Given the description of an element on the screen output the (x, y) to click on. 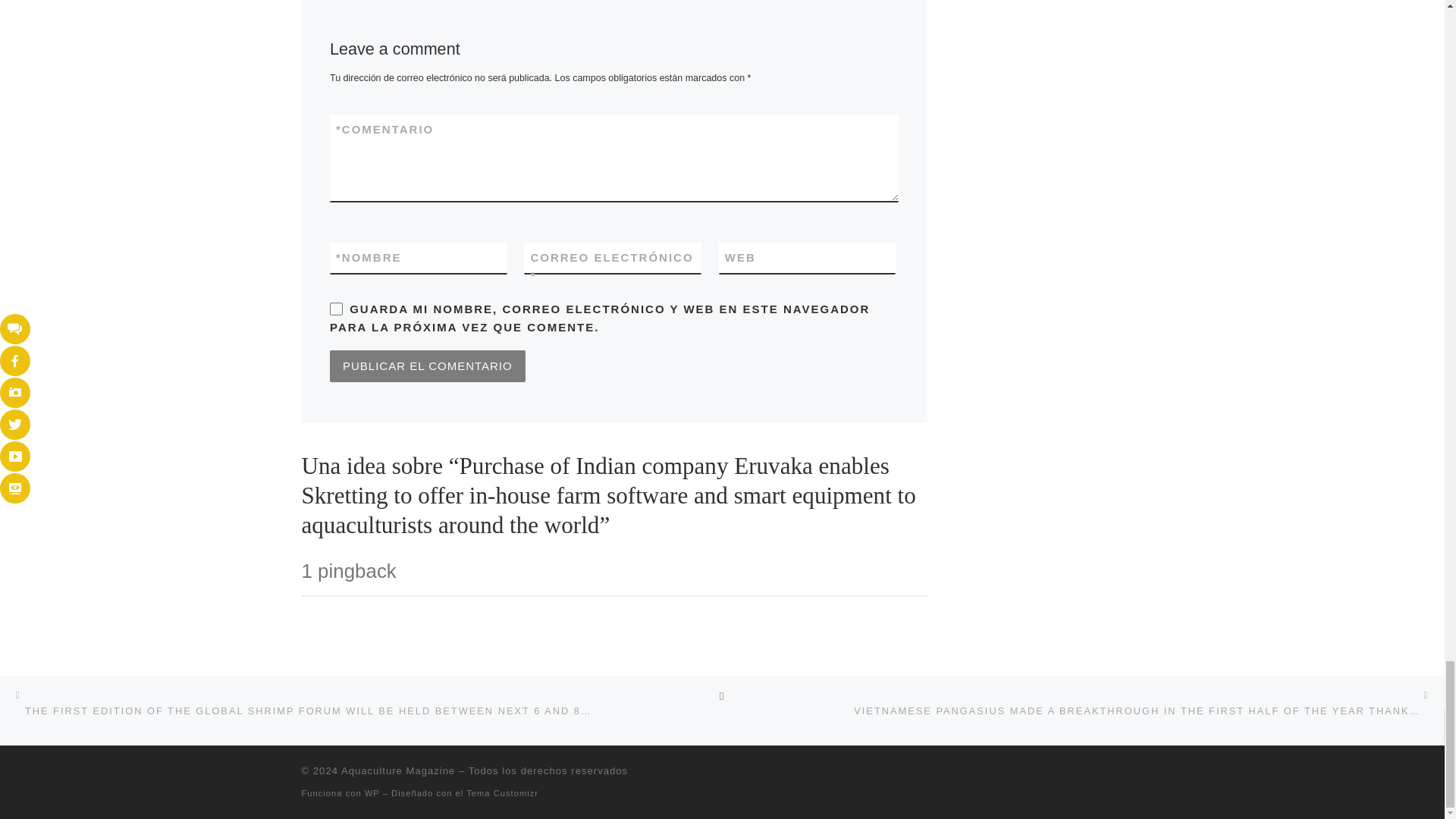
Publicar el comentario (427, 366)
yes (336, 308)
